Given the description of an element on the screen output the (x, y) to click on. 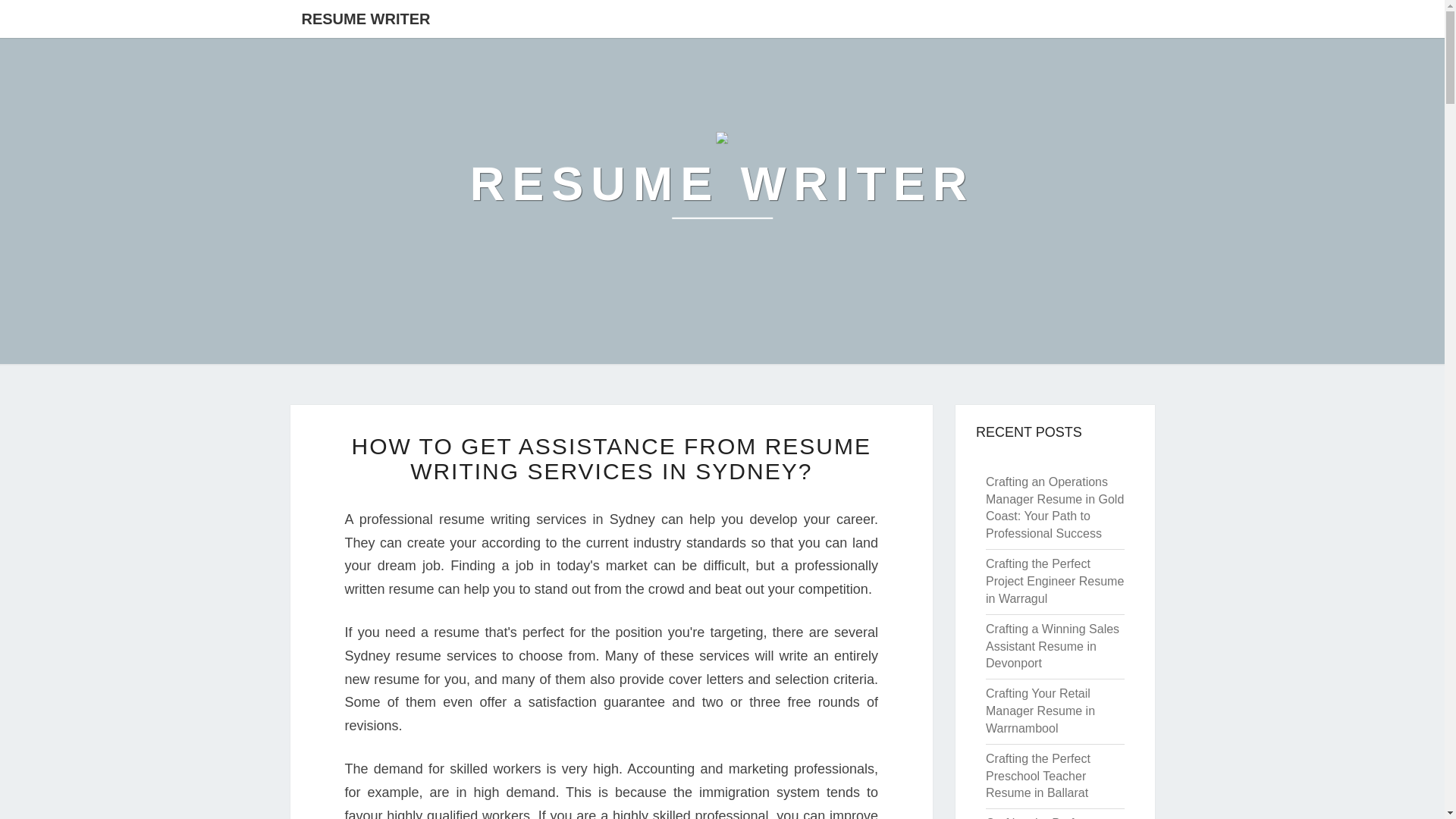
Crafting the Perfect Preschool Teacher Resume in Ballarat (1037, 776)
Crafting Your Retail Manager Resume in Warrnambool (1039, 710)
Crafting a Winning Sales Assistant Resume in Devonport (1052, 646)
Crafting the Perfect Teacher Aide Resume in Geelong (1050, 817)
RESUME WRITER (365, 18)
RESUME WRITER (722, 184)
Crafting the Perfect Project Engineer Resume in Warragul (1054, 581)
Resume Writer (722, 184)
